Given the description of an element on the screen output the (x, y) to click on. 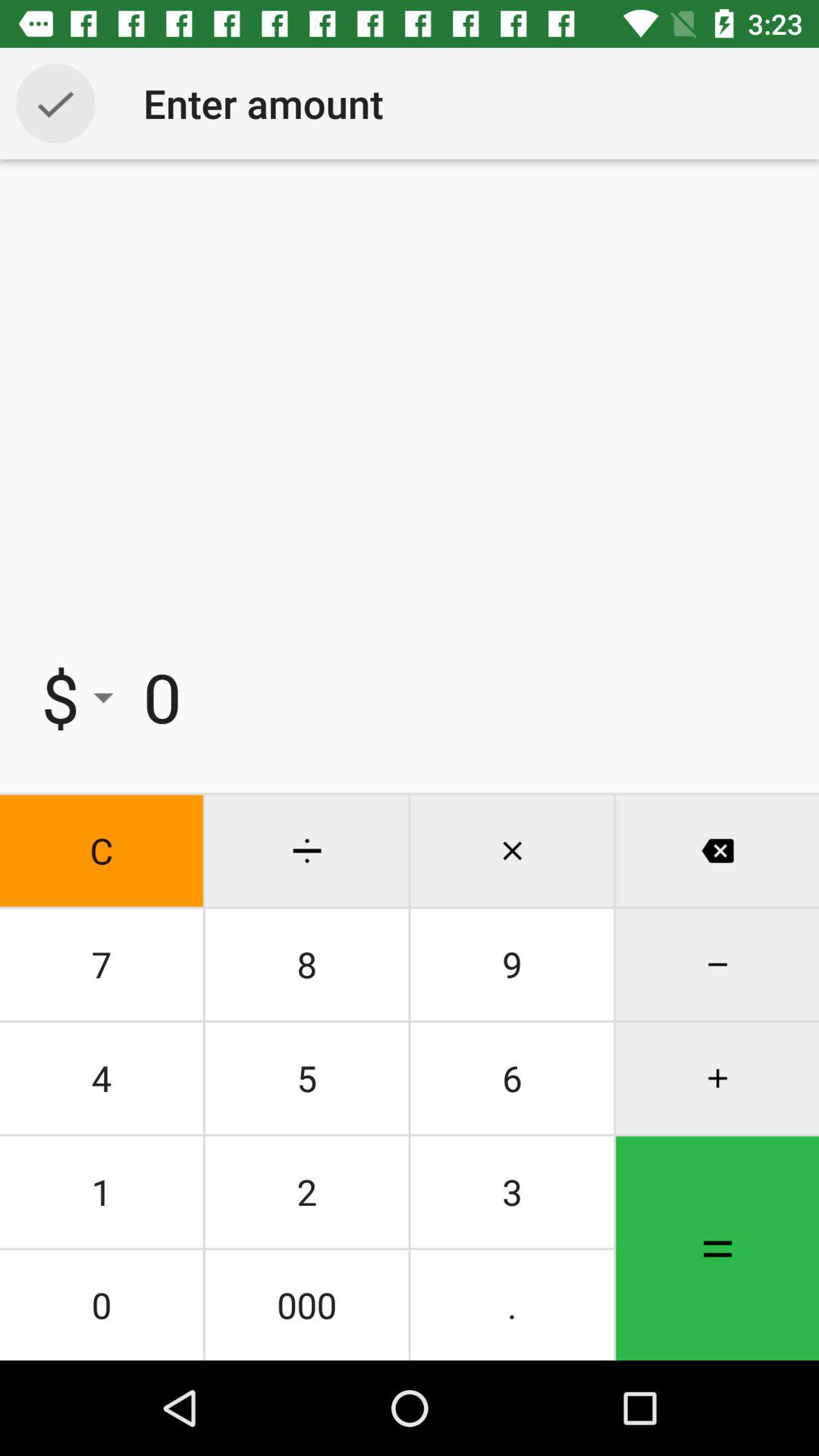
confirm amount entered (55, 103)
